Given the description of an element on the screen output the (x, y) to click on. 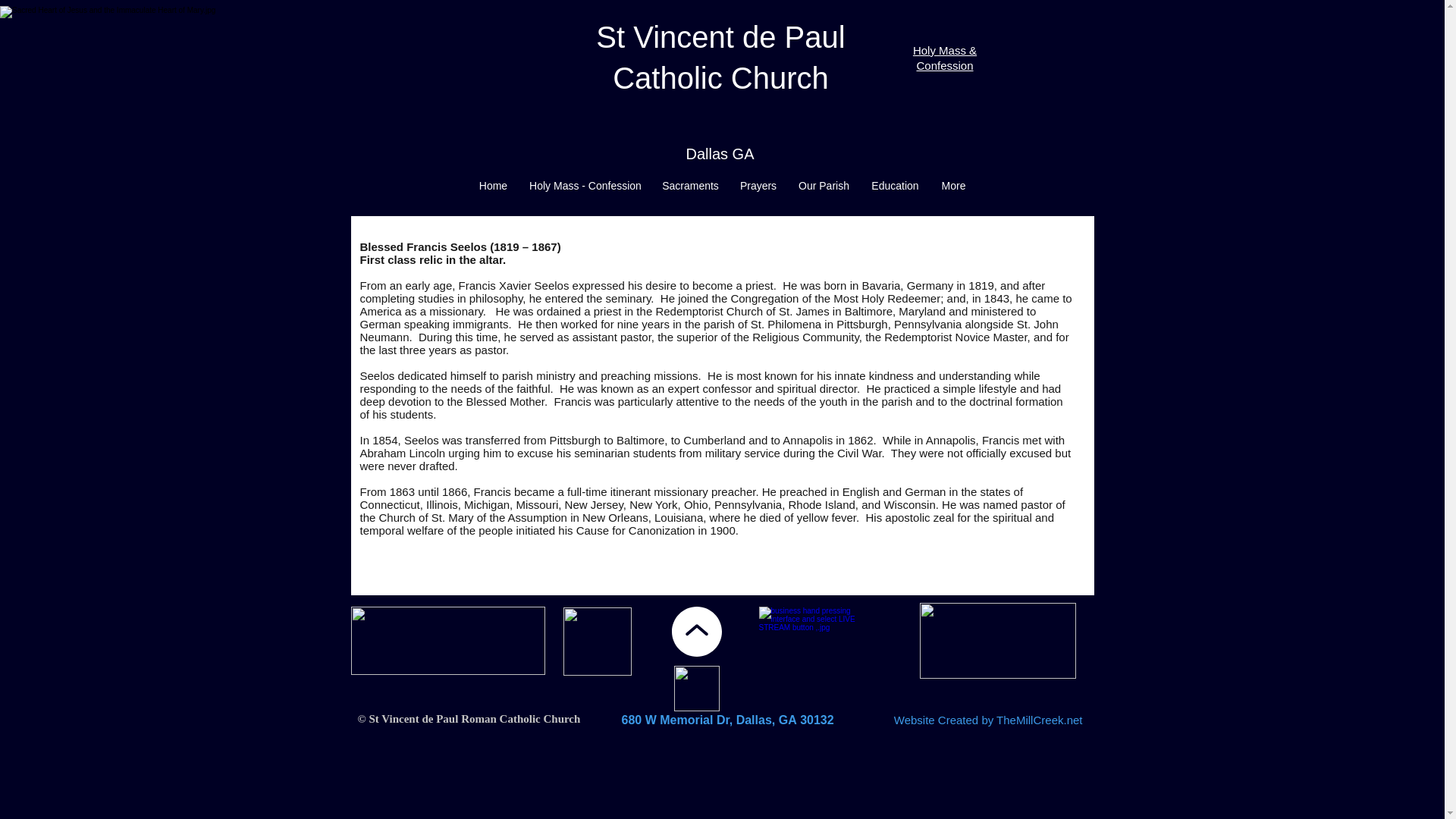
680 W Memorial Dr, Dallas, GA 30132 (727, 719)
facebook logo.png (695, 688)
Roman Catholic Archdiocese of Atlanta.pn (447, 640)
Home (492, 185)
georgia bulletin.jpg (596, 641)
Prayers (758, 185)
ewtn.png (996, 640)
